Given the description of an element on the screen output the (x, y) to click on. 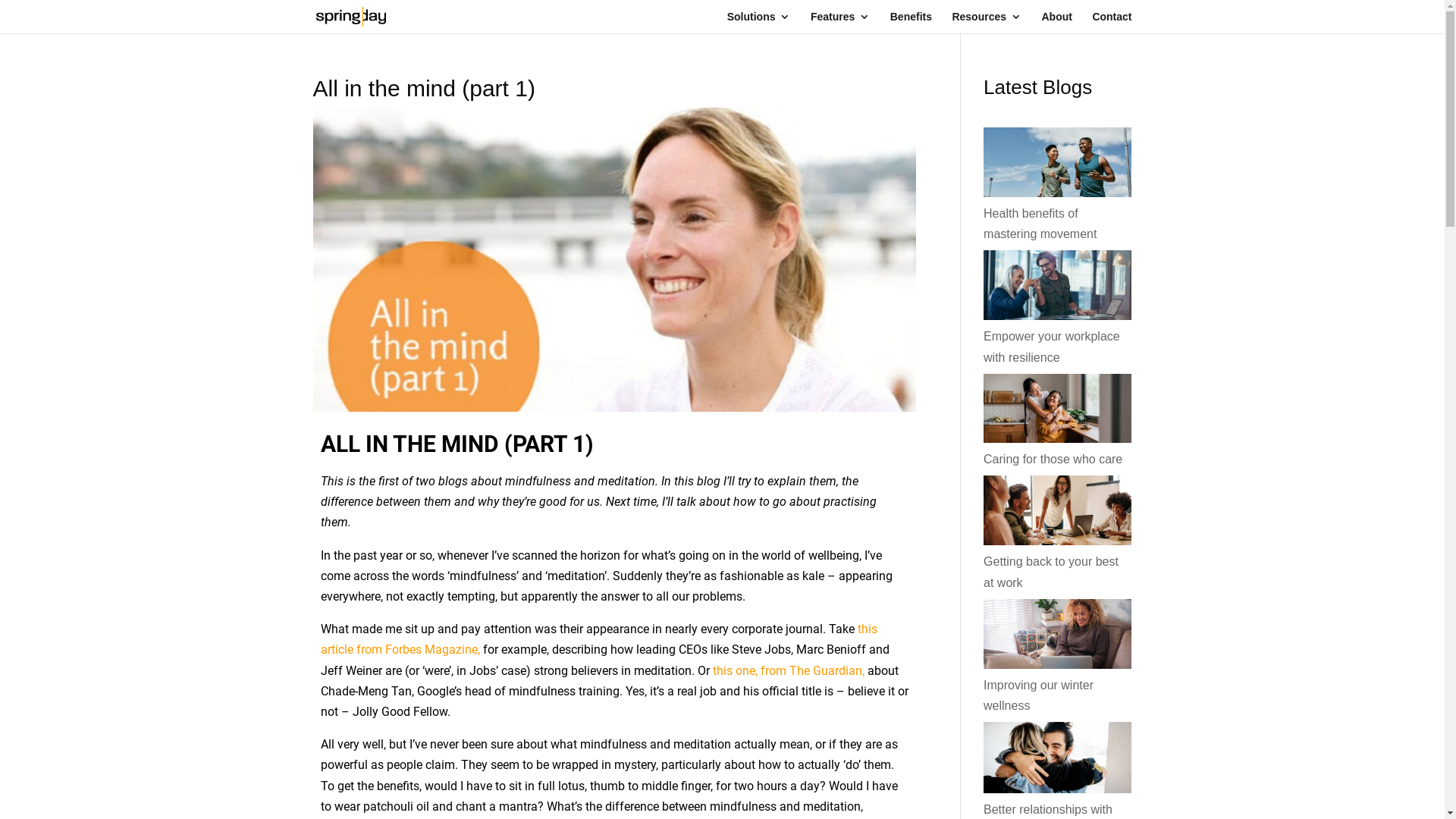
Caring for those who care Element type: text (1052, 458)
this article from Forbes Magazine Element type: text (598, 638)
Resources Element type: text (986, 22)
Solutions Element type: text (758, 22)
Empower your workplace with resilience Element type: text (1051, 346)
Getting back to your best at work Element type: text (1050, 571)
Contact Element type: text (1111, 22)
Improving our winter wellness Element type: text (1038, 695)
Health benefits of mastering movement Element type: text (1039, 223)
Features Element type: text (839, 22)
About Element type: text (1056, 22)
Benefits Element type: text (910, 22)
this one, from The Guardian Element type: text (787, 670)
